Given the description of an element on the screen output the (x, y) to click on. 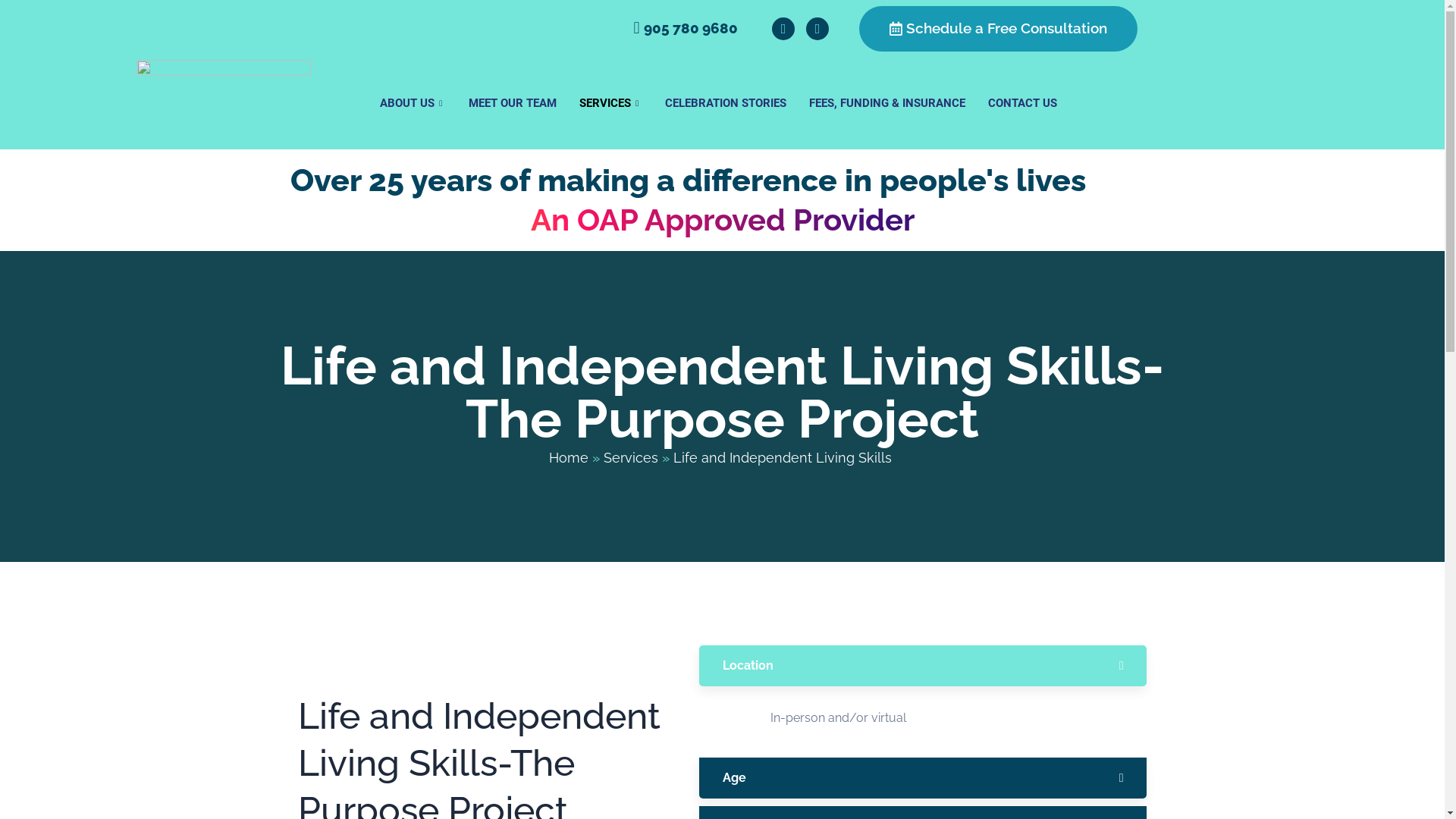
FEES, FUNDING & INSURANCE Element type: text (886, 103)
Home Element type: text (568, 457)
Schedule a Free Consultation Element type: text (998, 28)
MEET OUR TEAM Element type: text (512, 103)
Services Element type: text (630, 457)
Location Element type: text (923, 665)
Age Element type: text (923, 777)
SERVICES Element type: text (610, 103)
ABOUT US Element type: text (412, 103)
Life and Independent Living Skills-The Purpose Project Element type: text (722, 391)
CONTACT US Element type: text (1022, 103)
CELEBRATION STORIES Element type: text (725, 103)
